Given the description of an element on the screen output the (x, y) to click on. 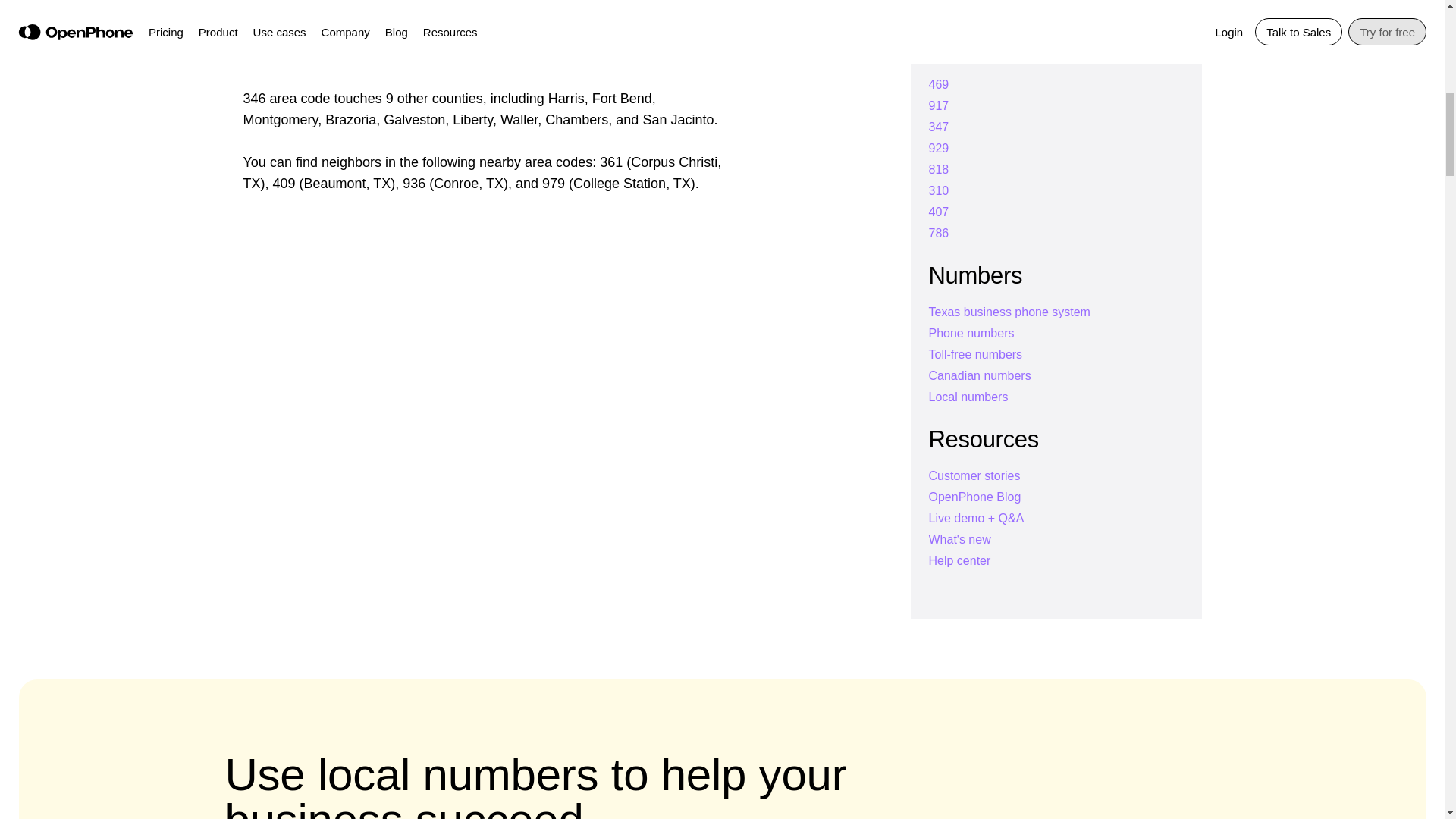
786 (938, 232)
469 (938, 83)
Local numbers (967, 396)
310 (938, 190)
929 (938, 147)
Toll-free numbers (975, 354)
Help center (959, 560)
What's new (959, 539)
917 (938, 105)
818 (938, 169)
